Given the description of an element on the screen output the (x, y) to click on. 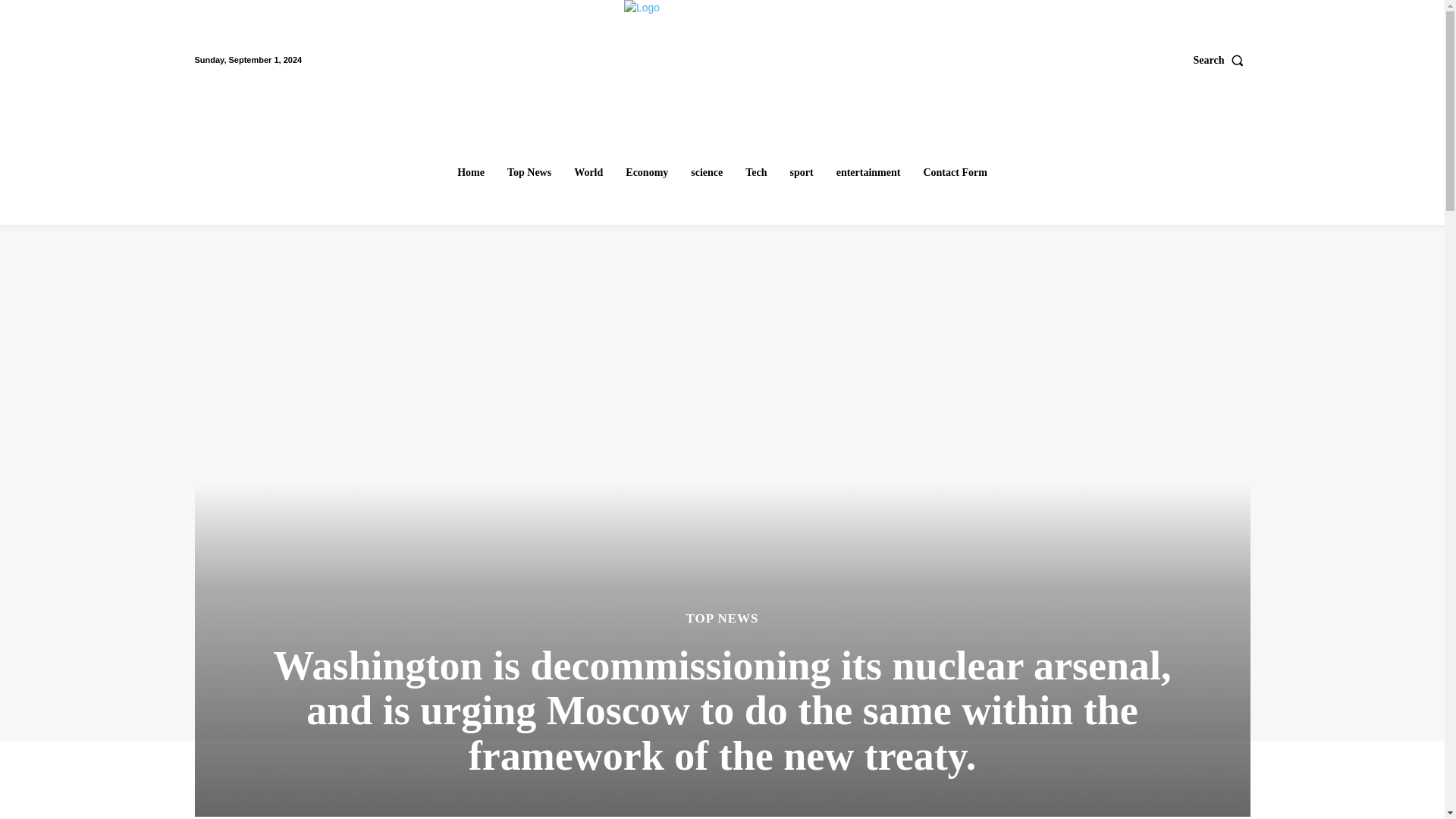
entertainment (868, 173)
science (706, 173)
sport (802, 173)
Search (1221, 60)
Economy (646, 173)
Tech (756, 173)
World (588, 173)
Home (470, 173)
Top News (529, 173)
Contact Form (954, 173)
